Given the description of an element on the screen output the (x, y) to click on. 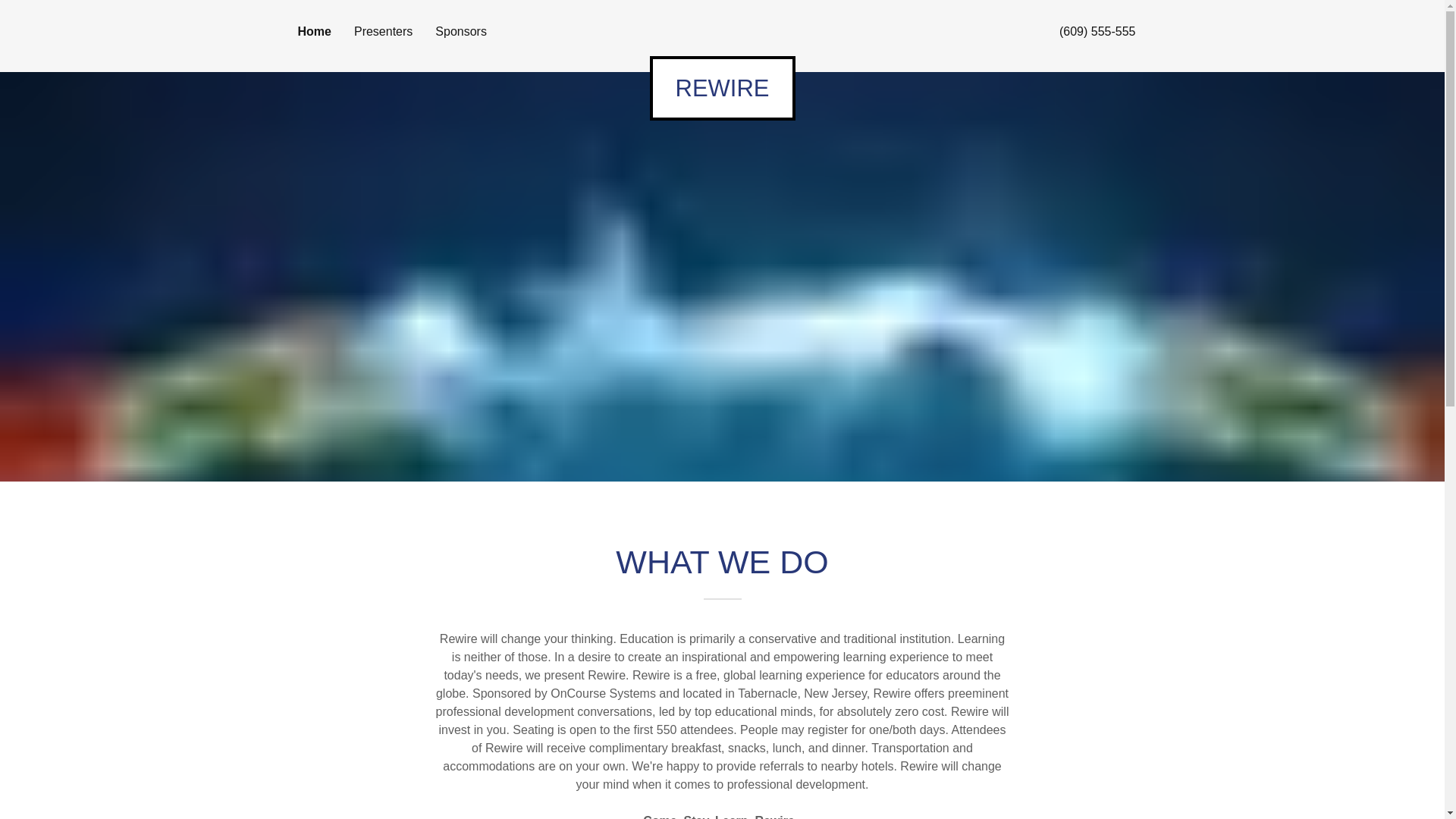
Home (313, 31)
Rewire (721, 88)
Sponsors (461, 31)
Presenters (382, 31)
REWIRE (721, 88)
